Given the description of an element on the screen output the (x, y) to click on. 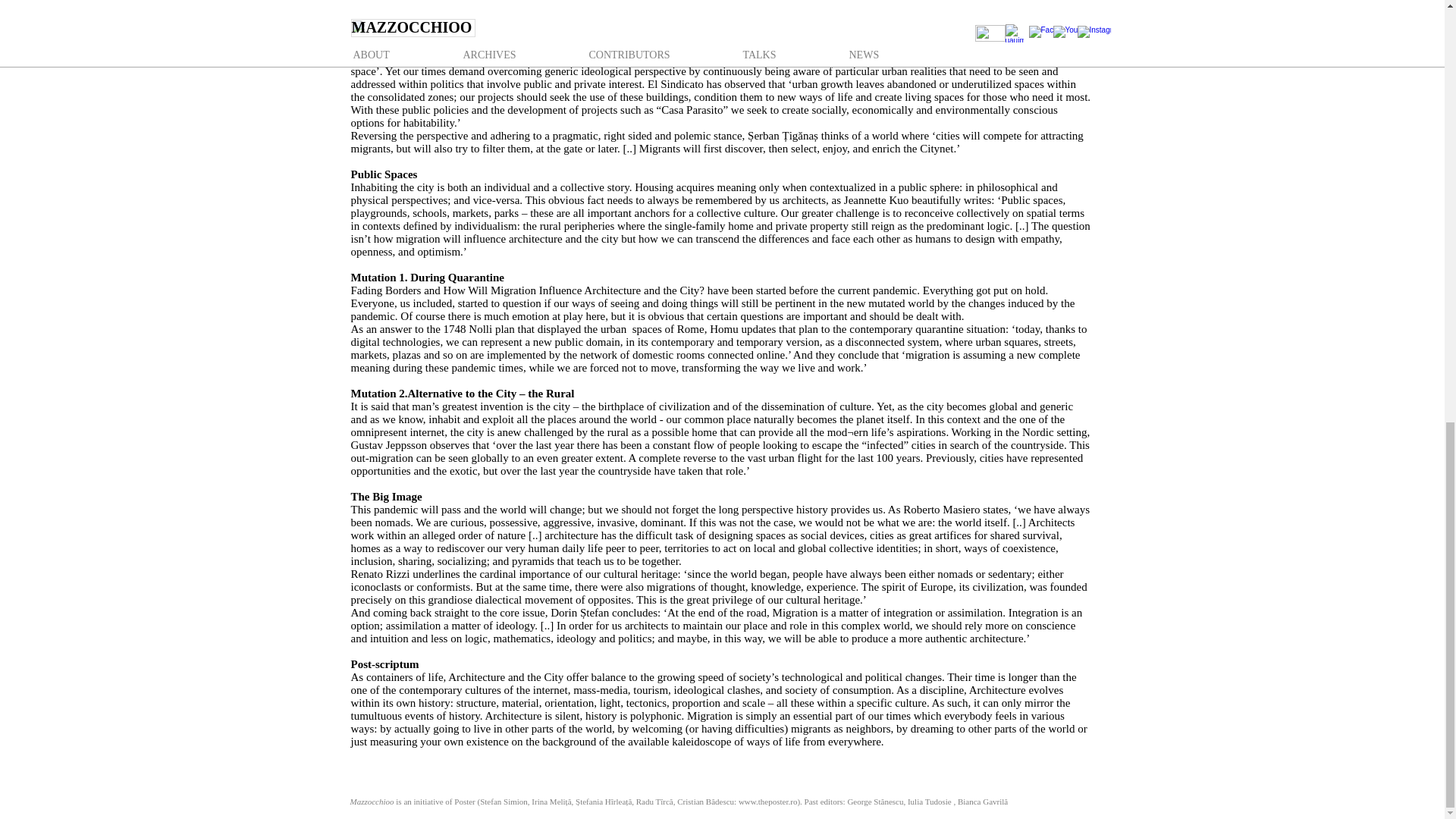
www.theposter.ro (767, 800)
